Given the description of an element on the screen output the (x, y) to click on. 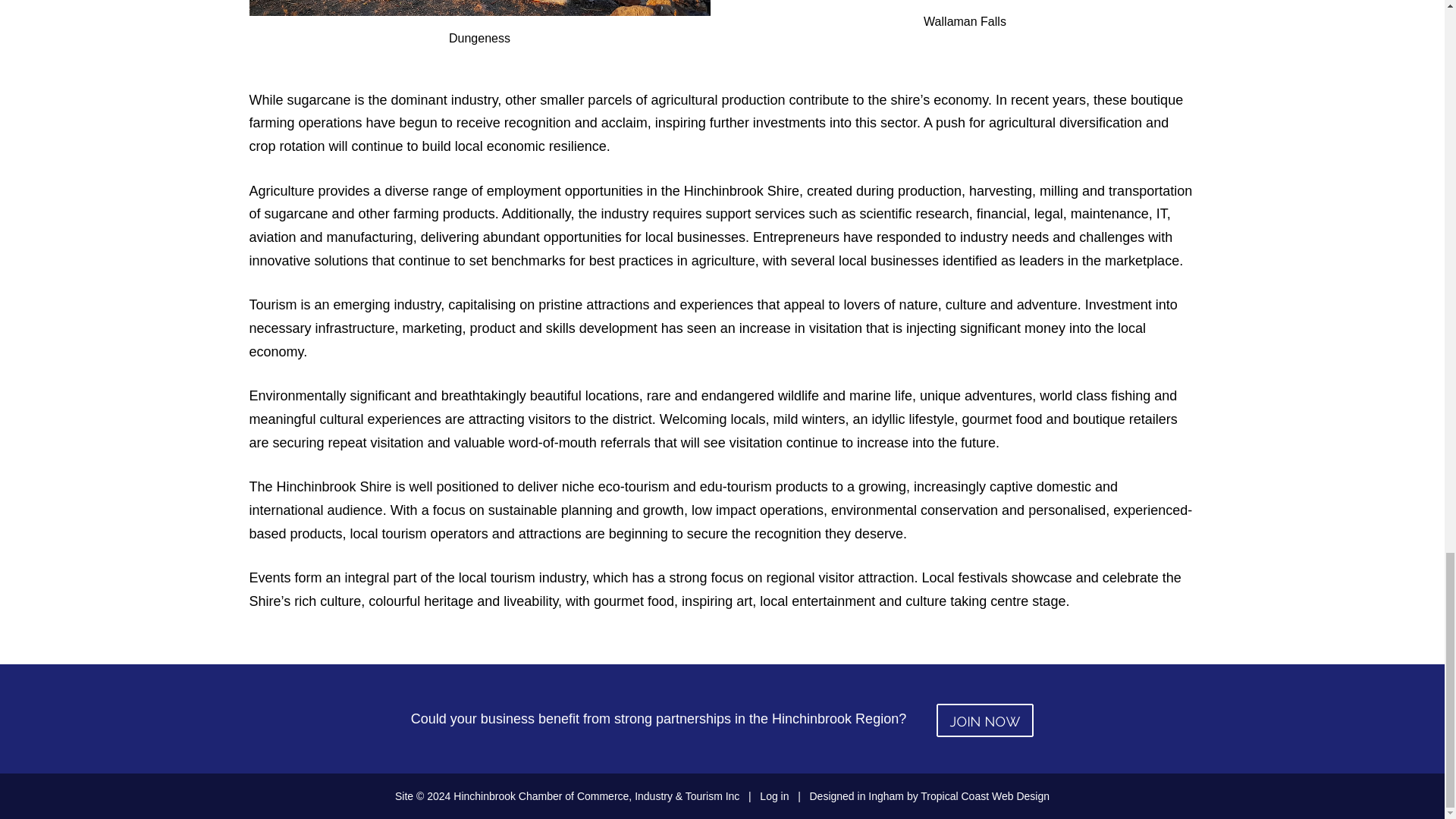
Log in (774, 796)
Tropical Coast Web Design (984, 796)
